Given the description of an element on the screen output the (x, y) to click on. 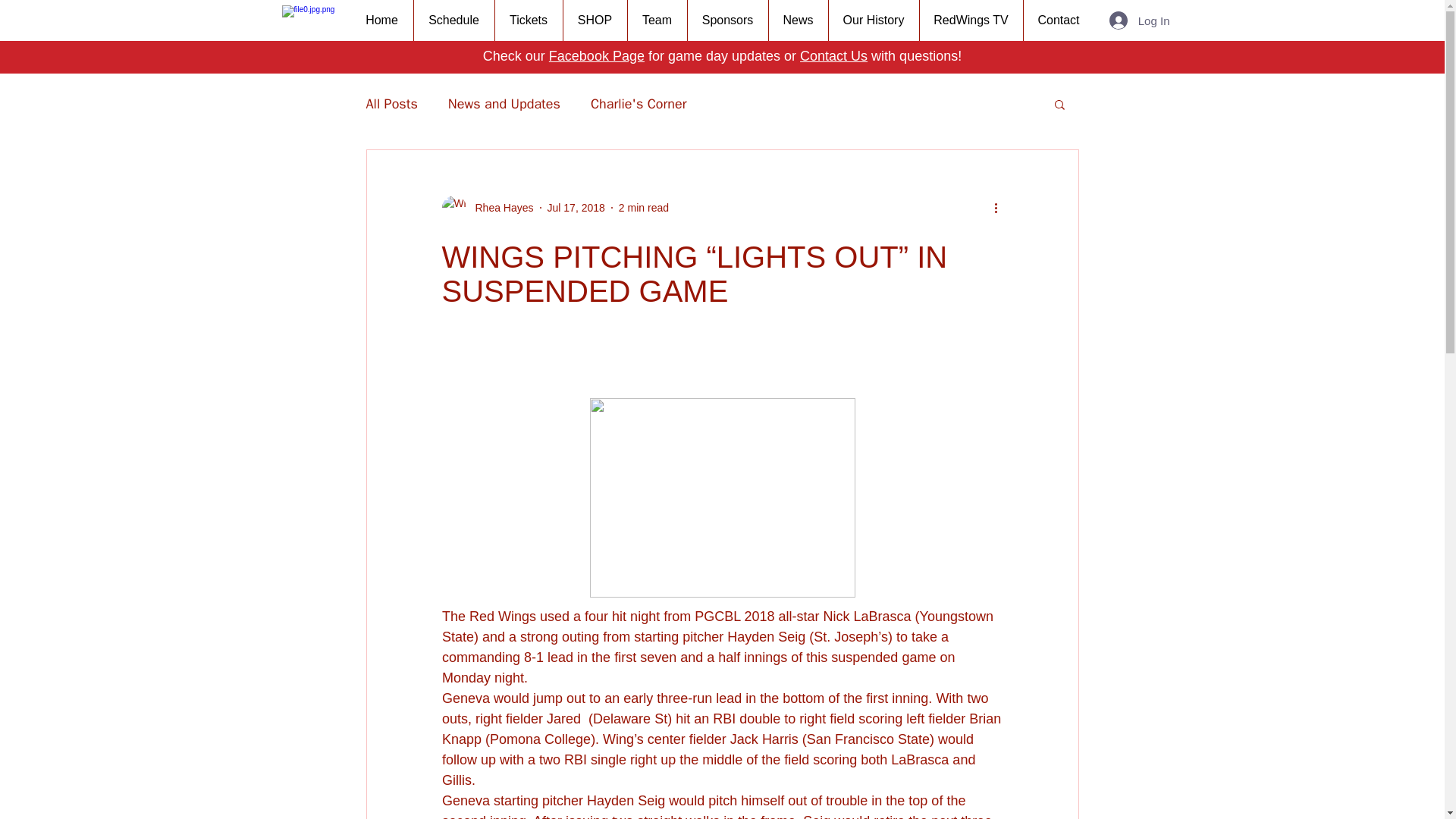
SHOP (594, 20)
RedWings TV (970, 20)
Charlie's Corner (639, 104)
Jul 17, 2018 (576, 207)
Sponsors (727, 20)
News (797, 20)
Contact Us (833, 55)
News and Updates (504, 104)
Contact (1057, 20)
Our History (873, 20)
